Given the description of an element on the screen output the (x, y) to click on. 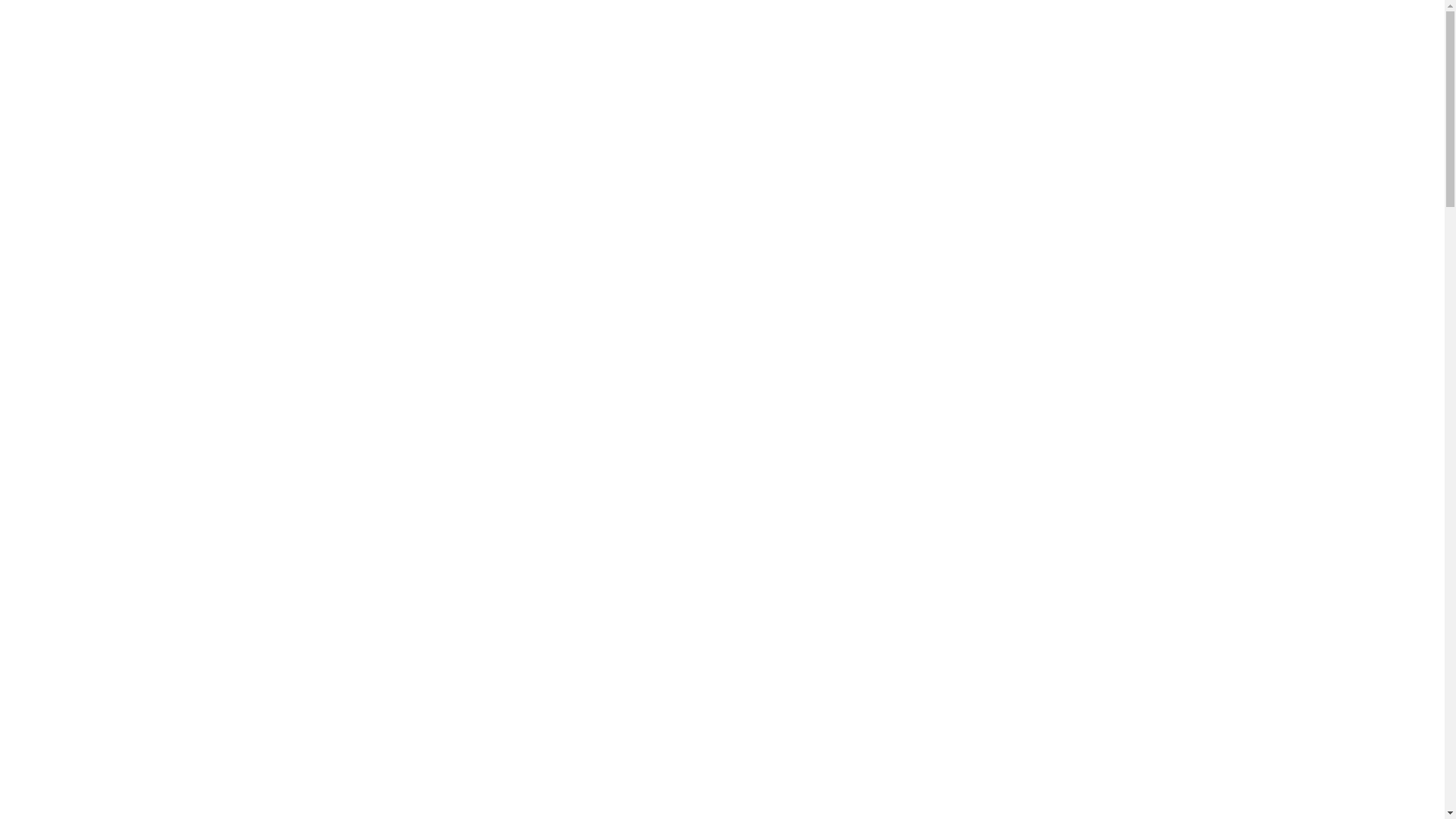
+375 (44) 594 55 55 Element type: text (1132, 49)
